Given the description of an element on the screen output the (x, y) to click on. 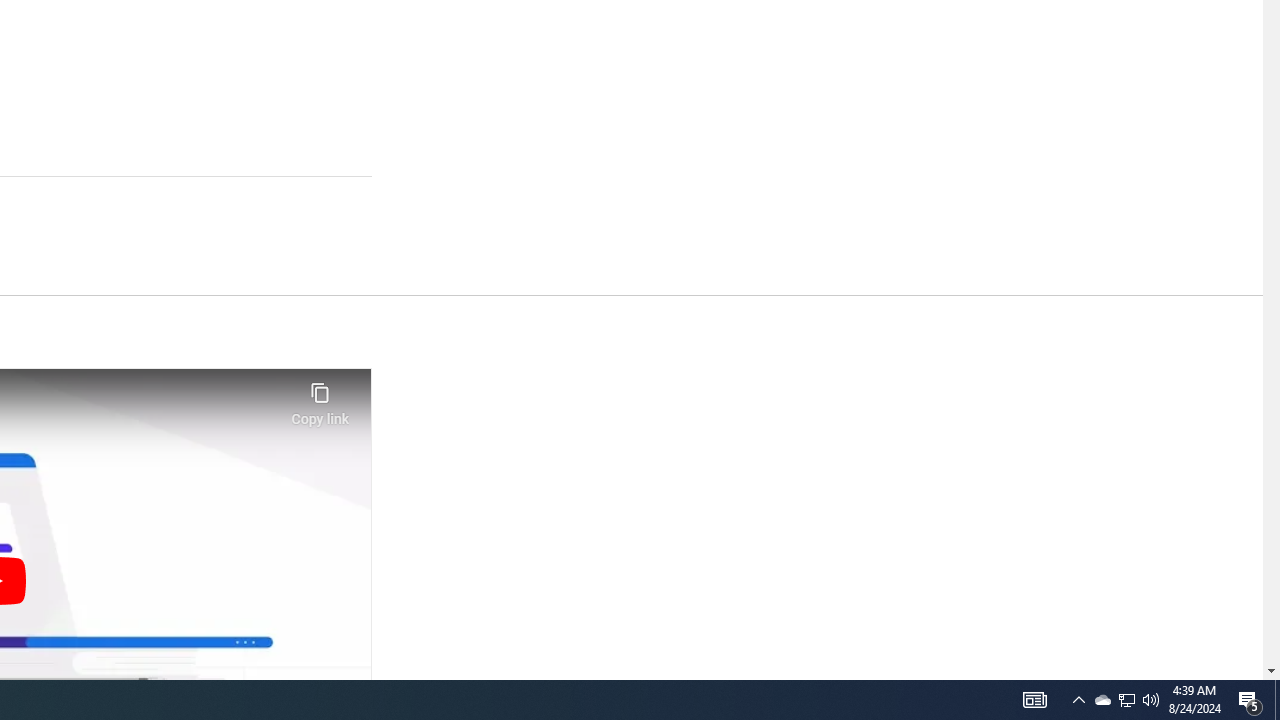
Copy link (319, 398)
